Given the description of an element on the screen output the (x, y) to click on. 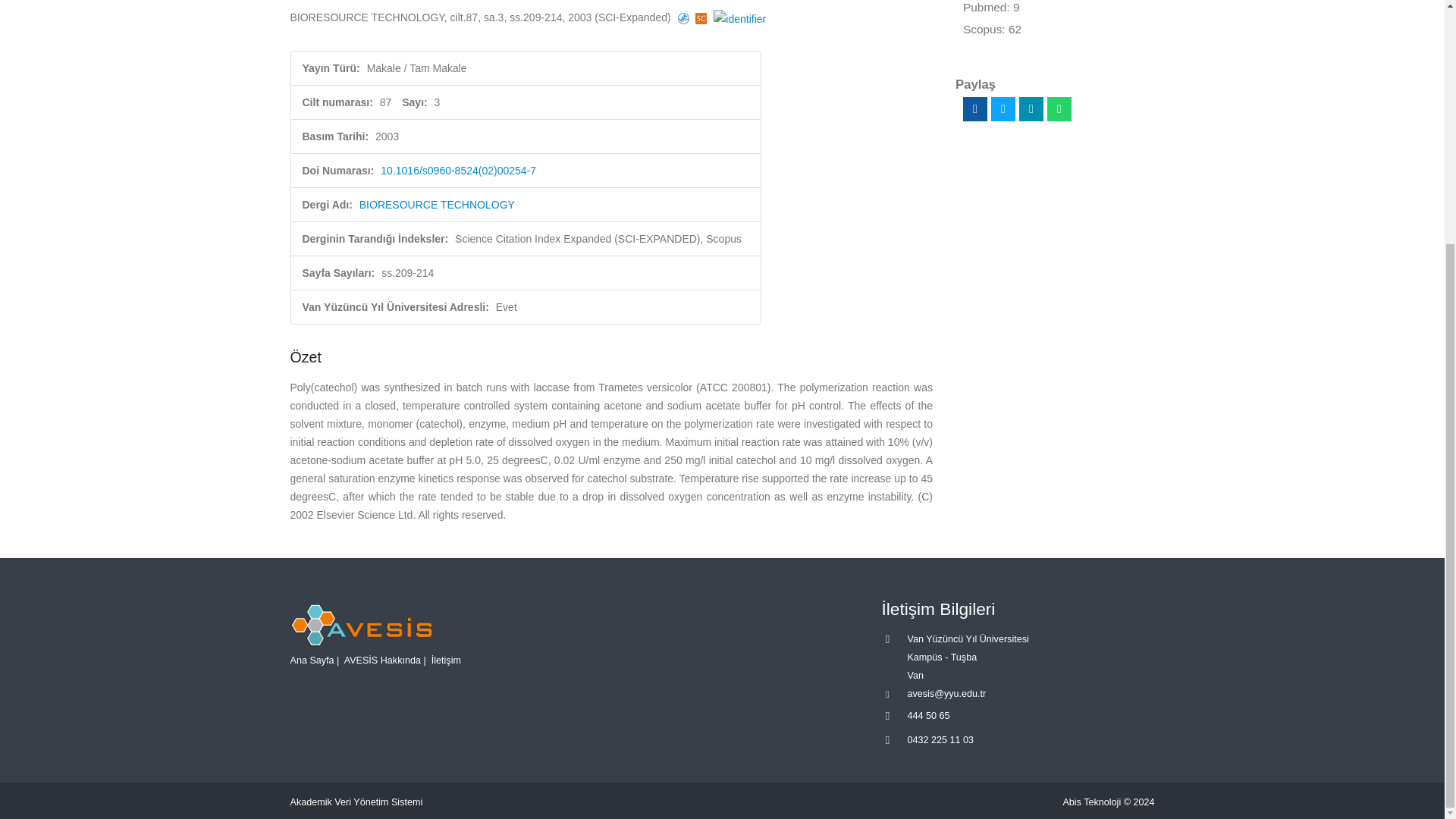
0432 225 11 03 (940, 739)
Abis Teknoloji (1091, 801)
444 50 65 (928, 715)
Ana Sayfa (311, 660)
BIORESOURCE TECHNOLOGY (437, 204)
